Given the description of an element on the screen output the (x, y) to click on. 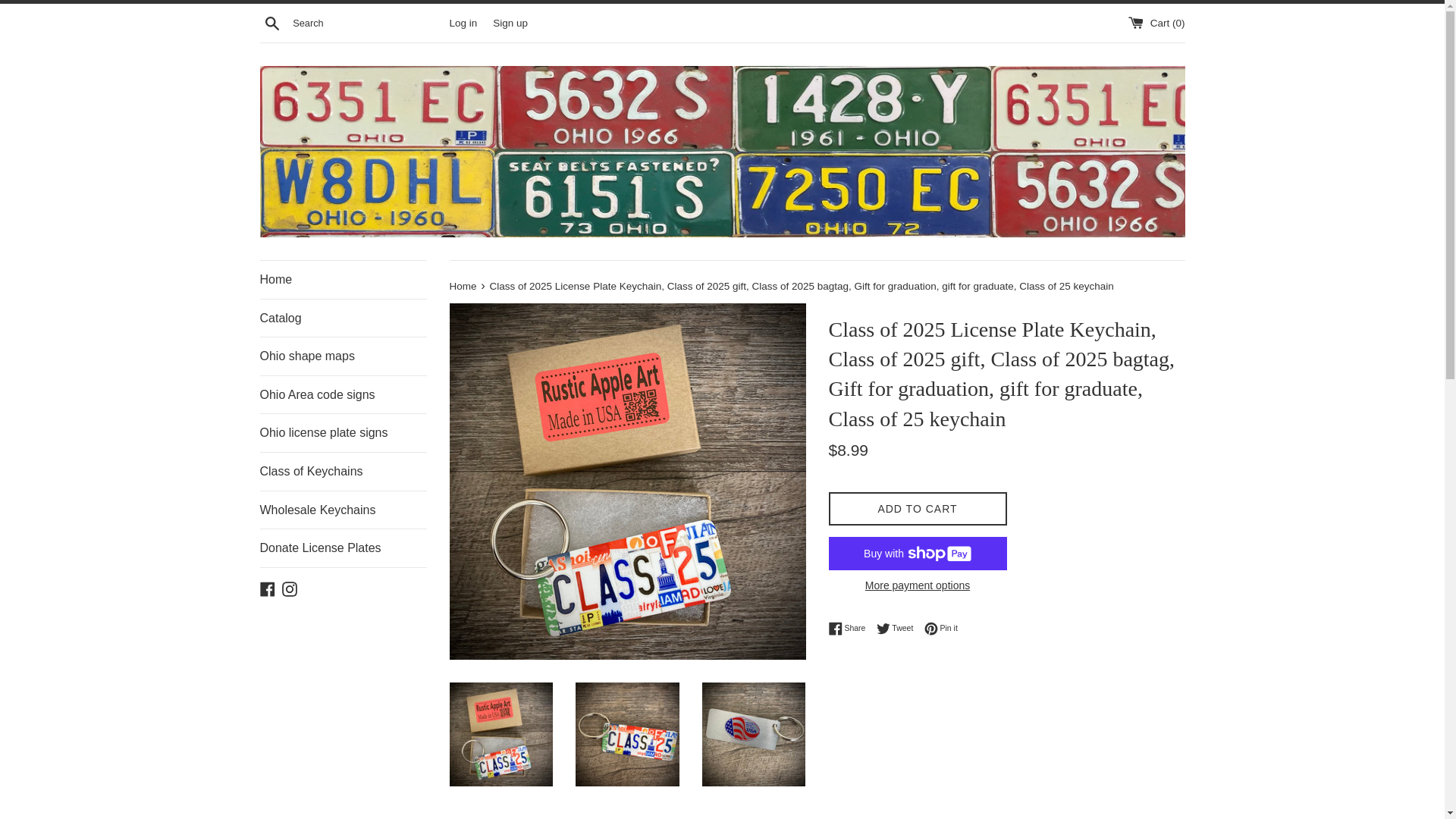
Sign up (850, 628)
Back to the frontpage (510, 21)
Instagram (463, 285)
Log in (941, 628)
Home (898, 628)
Wholesale Keychains (289, 587)
Class of Keychains (462, 21)
Ohio license plate signs (342, 279)
ADD TO CART (342, 510)
Search (342, 471)
Ohio shape maps (342, 433)
RusticAppleArt on Facebook (917, 509)
